Given the description of an element on the screen output the (x, y) to click on. 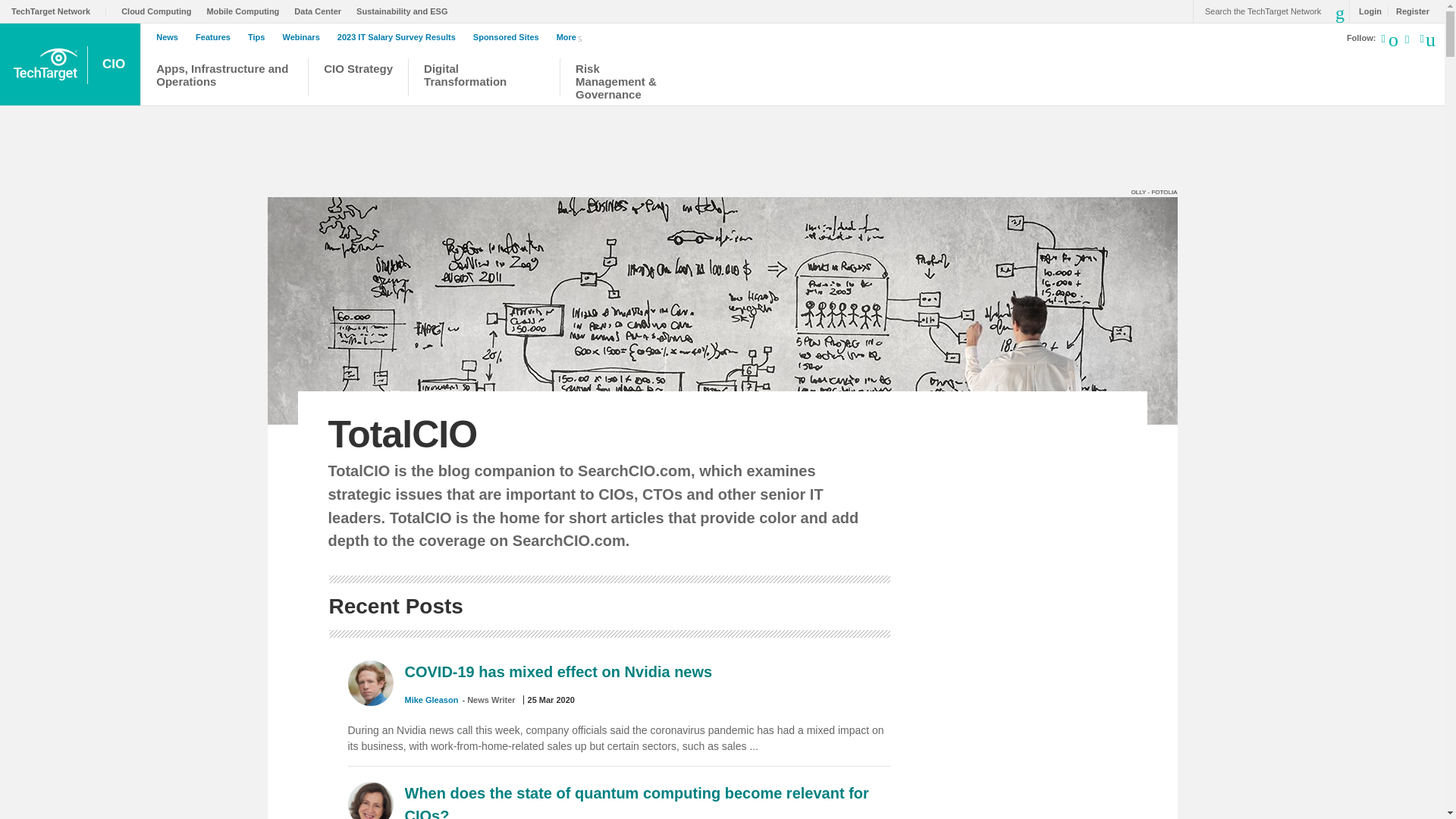
Mobile Computing (246, 10)
Register (1408, 10)
Login (1366, 10)
Data Center (321, 10)
News (170, 36)
CIO Strategy (358, 79)
Sustainability and ESG (405, 10)
Digital Transformation (483, 79)
More (572, 36)
Webinars (304, 36)
